Given the description of an element on the screen output the (x, y) to click on. 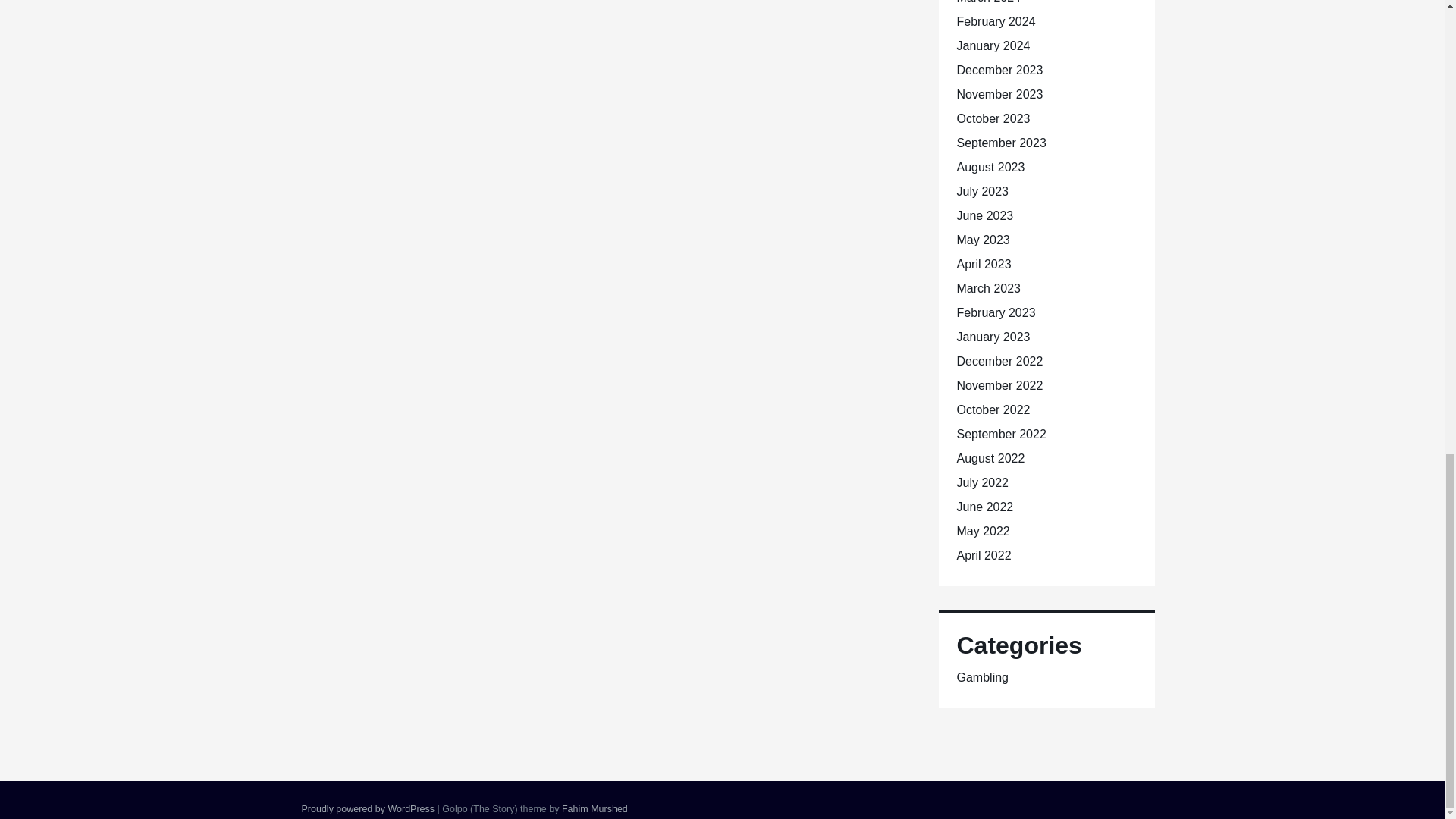
May 2023 (983, 239)
November 2022 (999, 385)
August 2023 (990, 166)
February 2023 (995, 312)
September 2023 (1001, 142)
September 2022 (1001, 433)
March 2024 (989, 2)
June 2022 (984, 506)
March 2023 (989, 287)
January 2023 (993, 336)
February 2024 (995, 21)
July 2023 (982, 191)
January 2024 (993, 45)
October 2023 (993, 118)
July 2022 (982, 481)
